Given the description of an element on the screen output the (x, y) to click on. 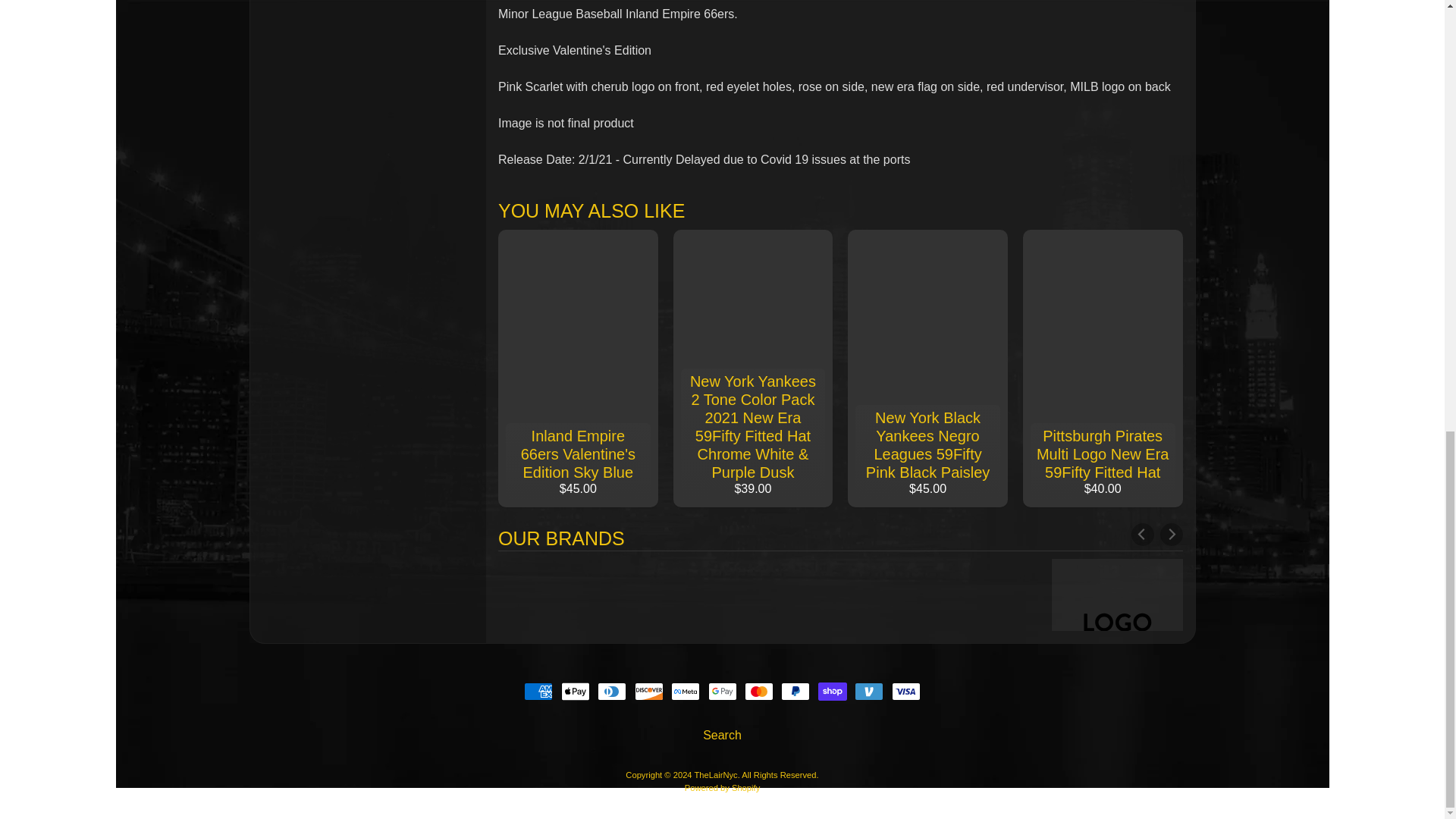
Google Pay (721, 691)
Apple Pay (574, 691)
Discover (648, 691)
Shop Pay (832, 691)
Diners Club (611, 691)
Mastercard (758, 691)
Meta Pay (685, 691)
PayPal (794, 691)
American Express (538, 691)
